Given the description of an element on the screen output the (x, y) to click on. 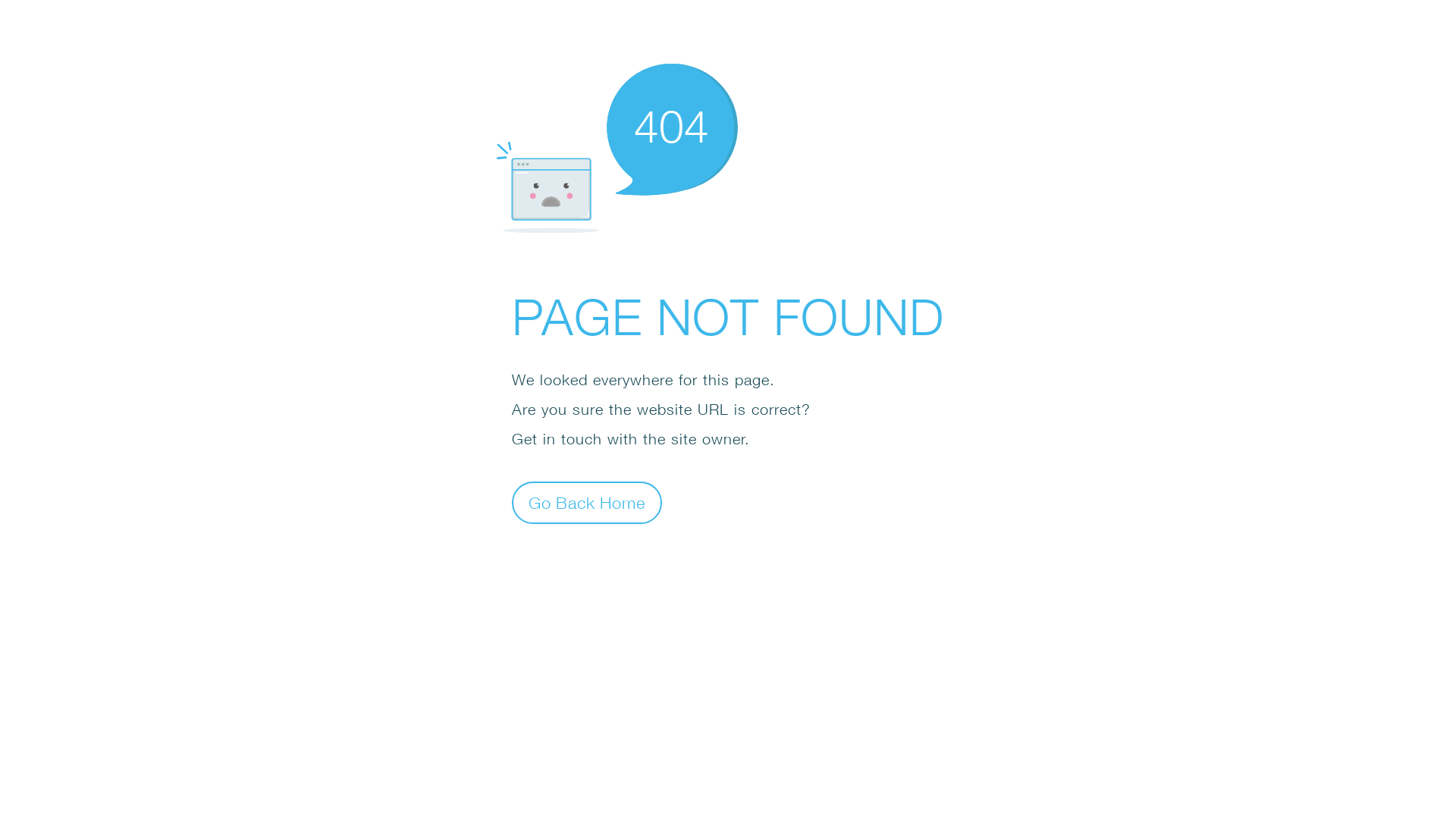
Go Back Home Element type: text (586, 502)
